Given the description of an element on the screen output the (x, y) to click on. 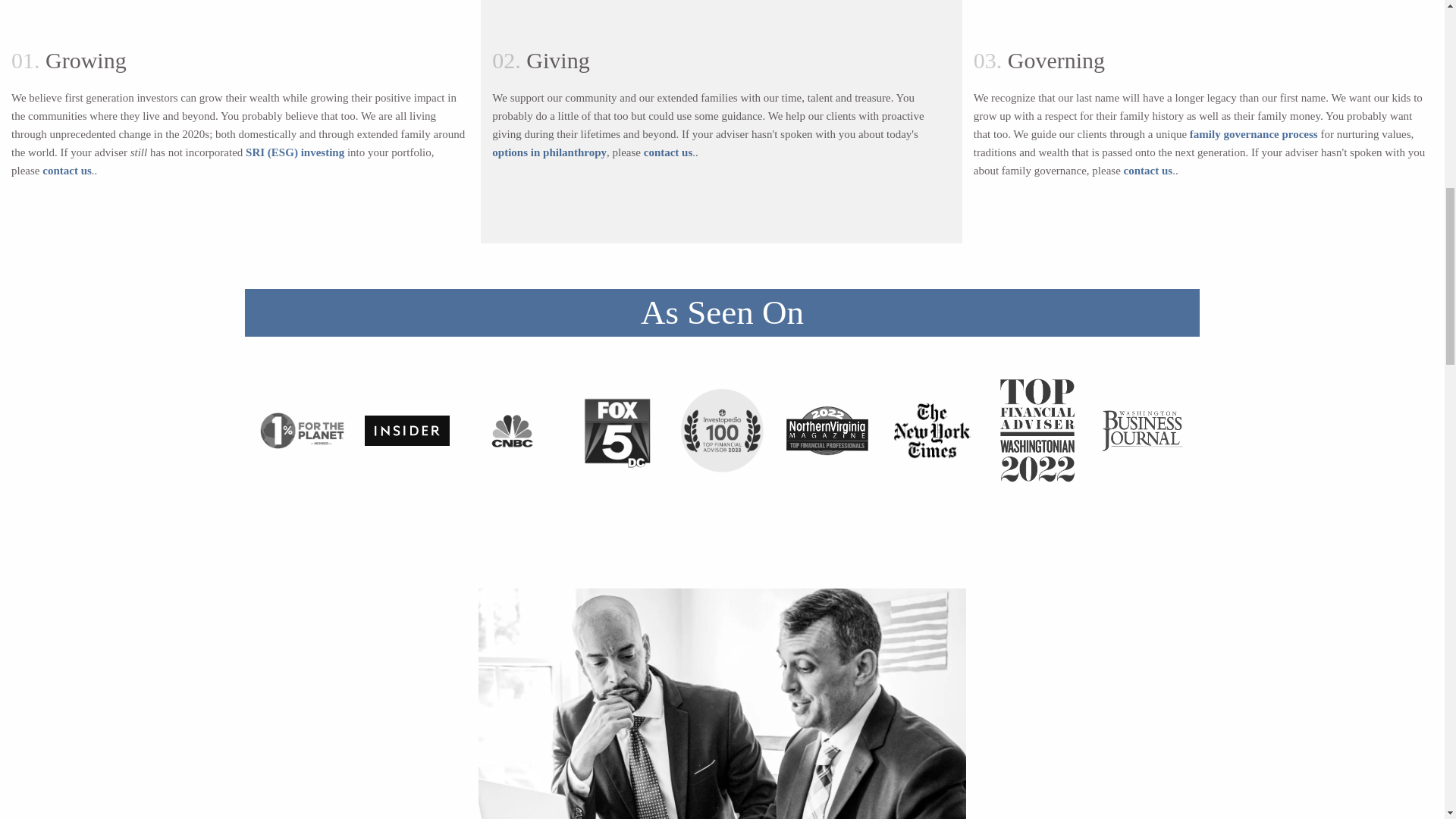
contact us. (669, 152)
options in philanthropy (549, 152)
family governance process (1253, 133)
contact us. (1149, 170)
contact us. (68, 170)
